Given the description of an element on the screen output the (x, y) to click on. 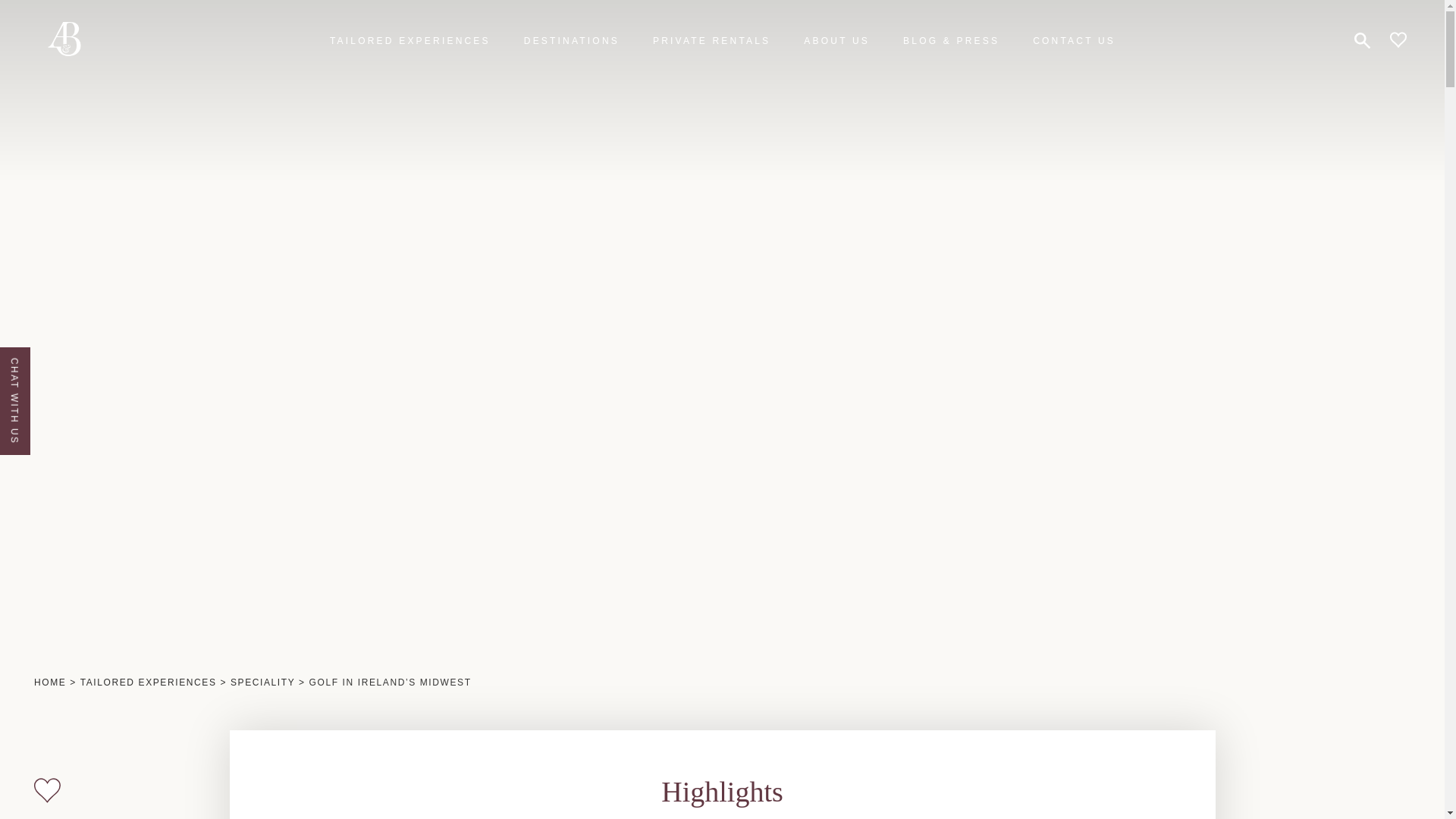
TAILORED EXPERIENCES (410, 40)
ABOUT US (836, 40)
DESTINATIONS (572, 40)
PRIVATE RENTALS (711, 40)
CONTACT US (1073, 40)
CHAT WITH US (52, 363)
